Given the description of an element on the screen output the (x, y) to click on. 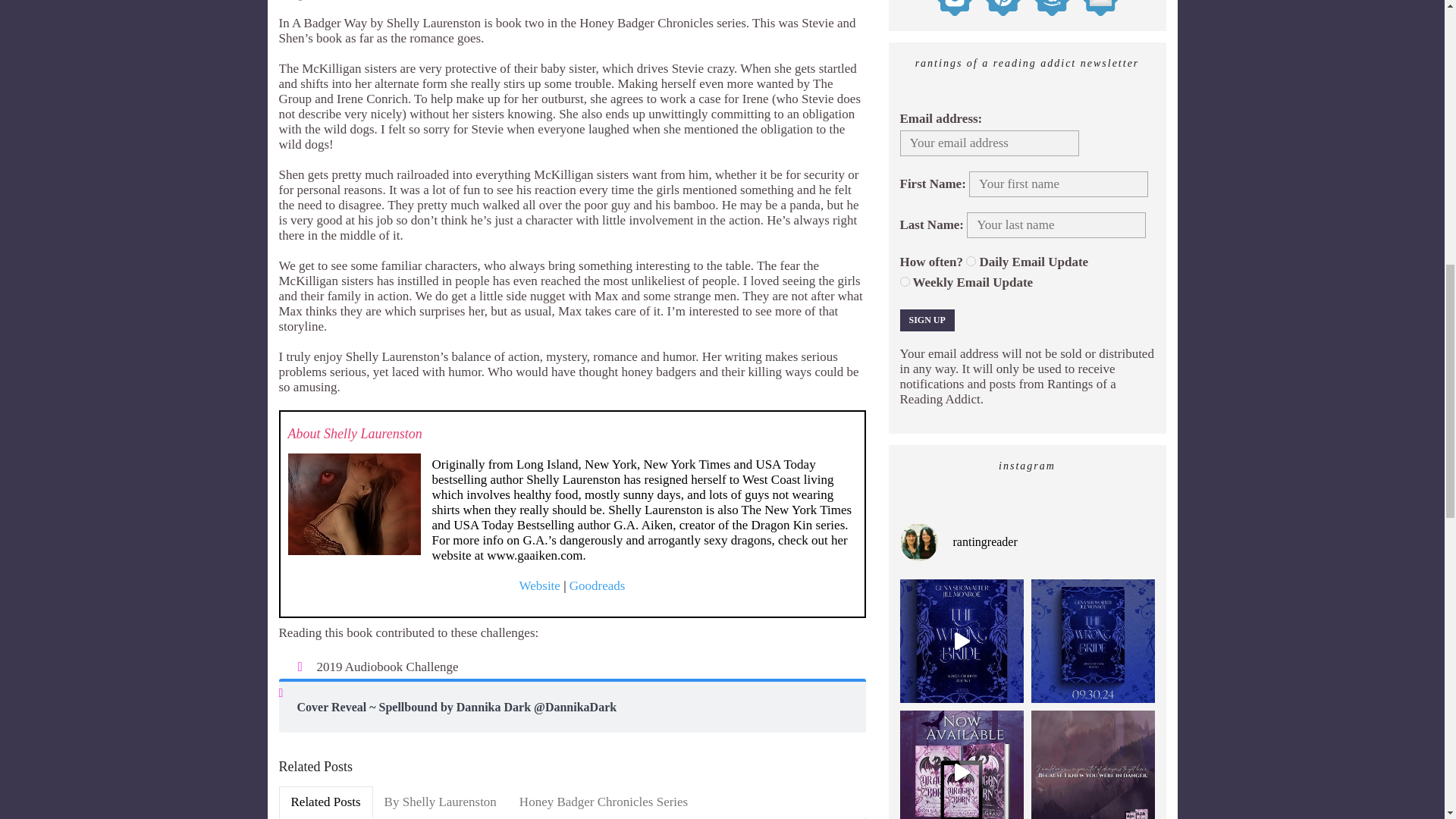
Sign up (926, 320)
Weekly Email Update (903, 281)
Daily Email Update (970, 261)
